Given the description of an element on the screen output the (x, y) to click on. 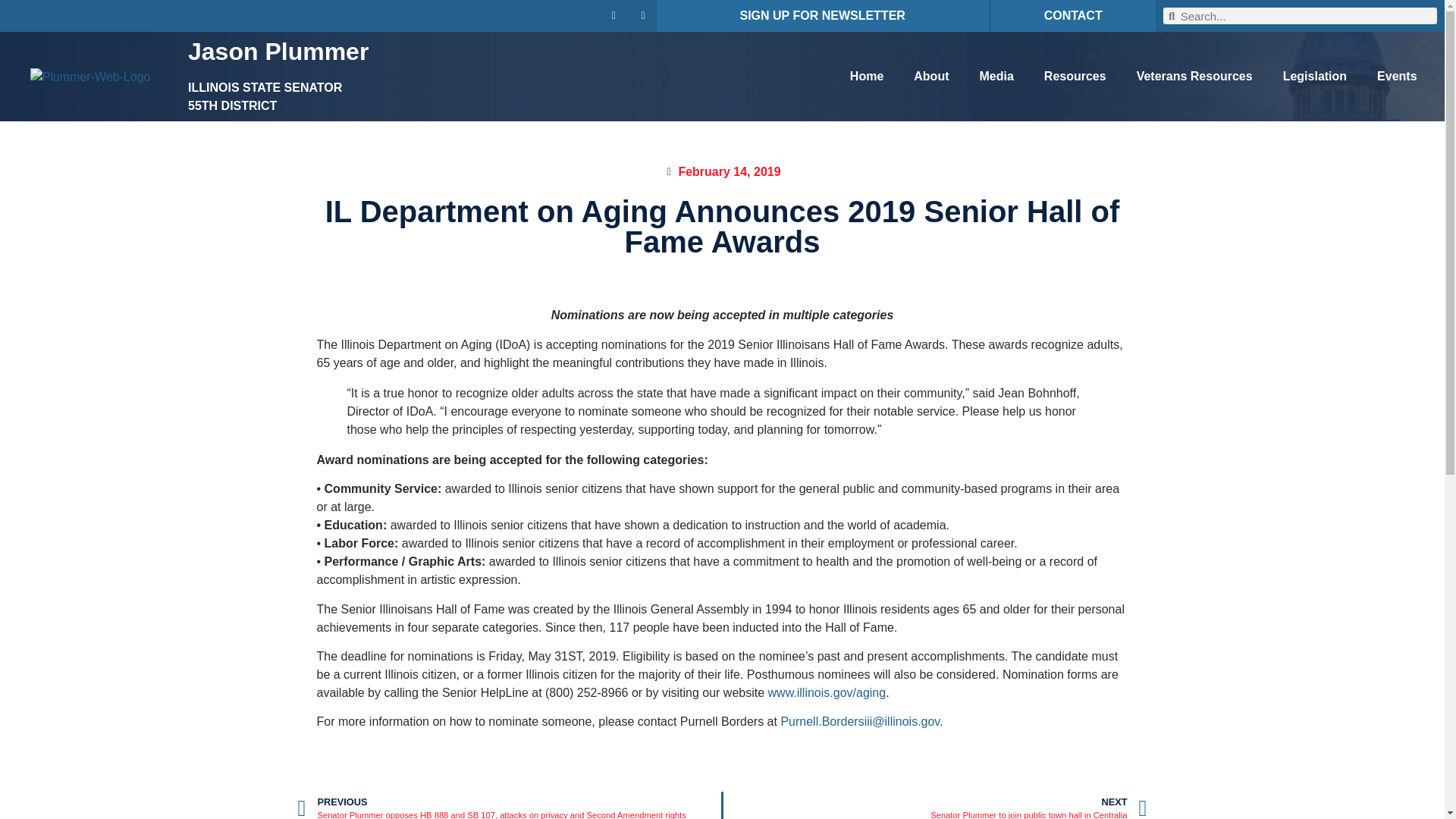
Media (995, 76)
Legislation (1314, 76)
CONTACT (1072, 15)
Home (866, 76)
About (930, 76)
Resources (1075, 76)
Veterans Resources (1194, 76)
Plummer-Web-Logo (90, 76)
SIGN UP FOR NEWSLETTER (821, 15)
Jason Plummer (277, 51)
